Given the description of an element on the screen output the (x, y) to click on. 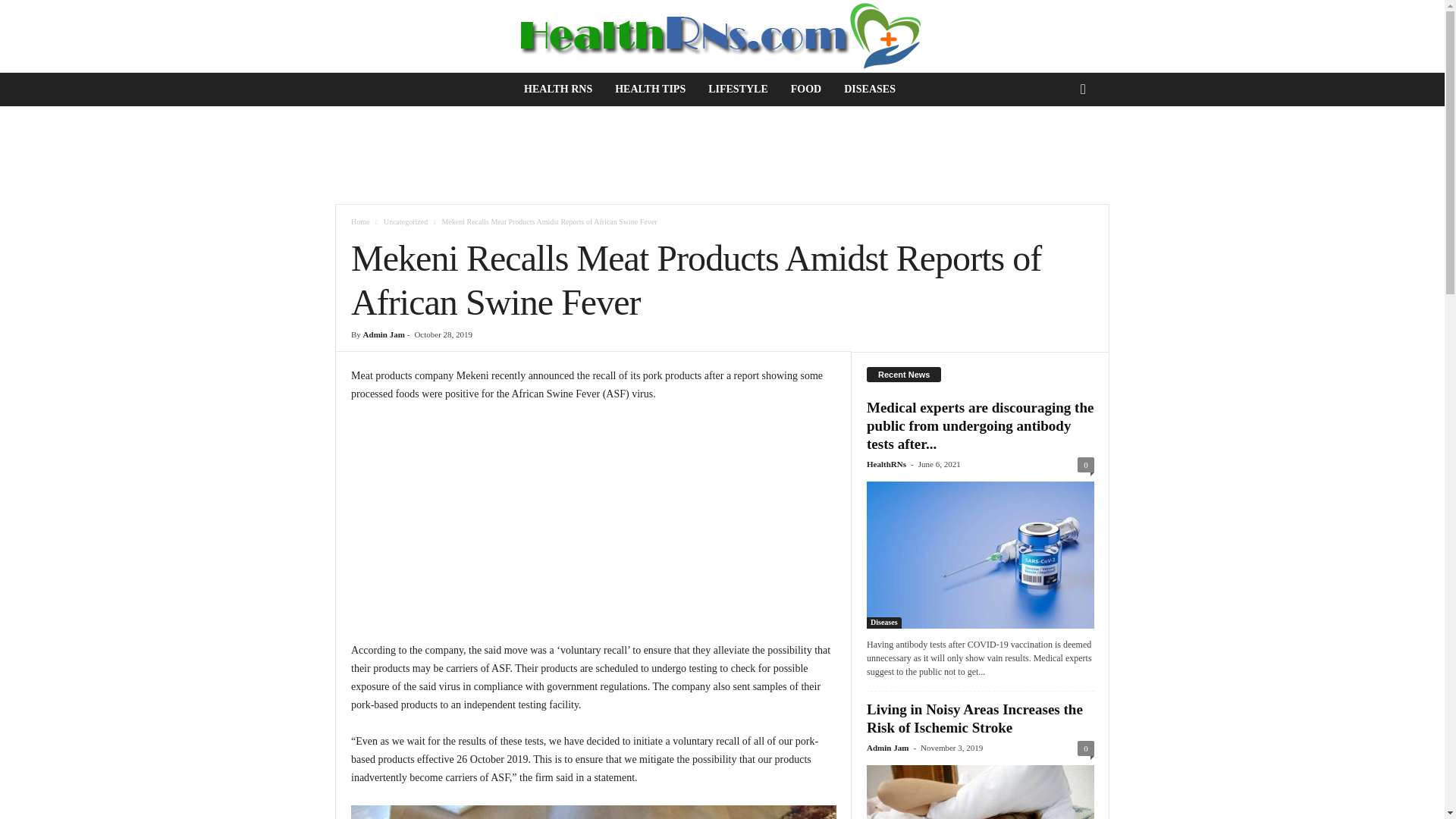
Advertisement (722, 154)
Uncategorized (406, 221)
HEALTH RNS (558, 89)
FOOD (805, 89)
HealthRNs (885, 463)
DISEASES (869, 89)
Advertisement (592, 527)
LIFESTYLE (737, 89)
Health RNs (721, 36)
View all posts in Uncategorized (406, 221)
HEALTH TIPS (650, 89)
Admin Jam (383, 334)
0 (1085, 464)
